Given the description of an element on the screen output the (x, y) to click on. 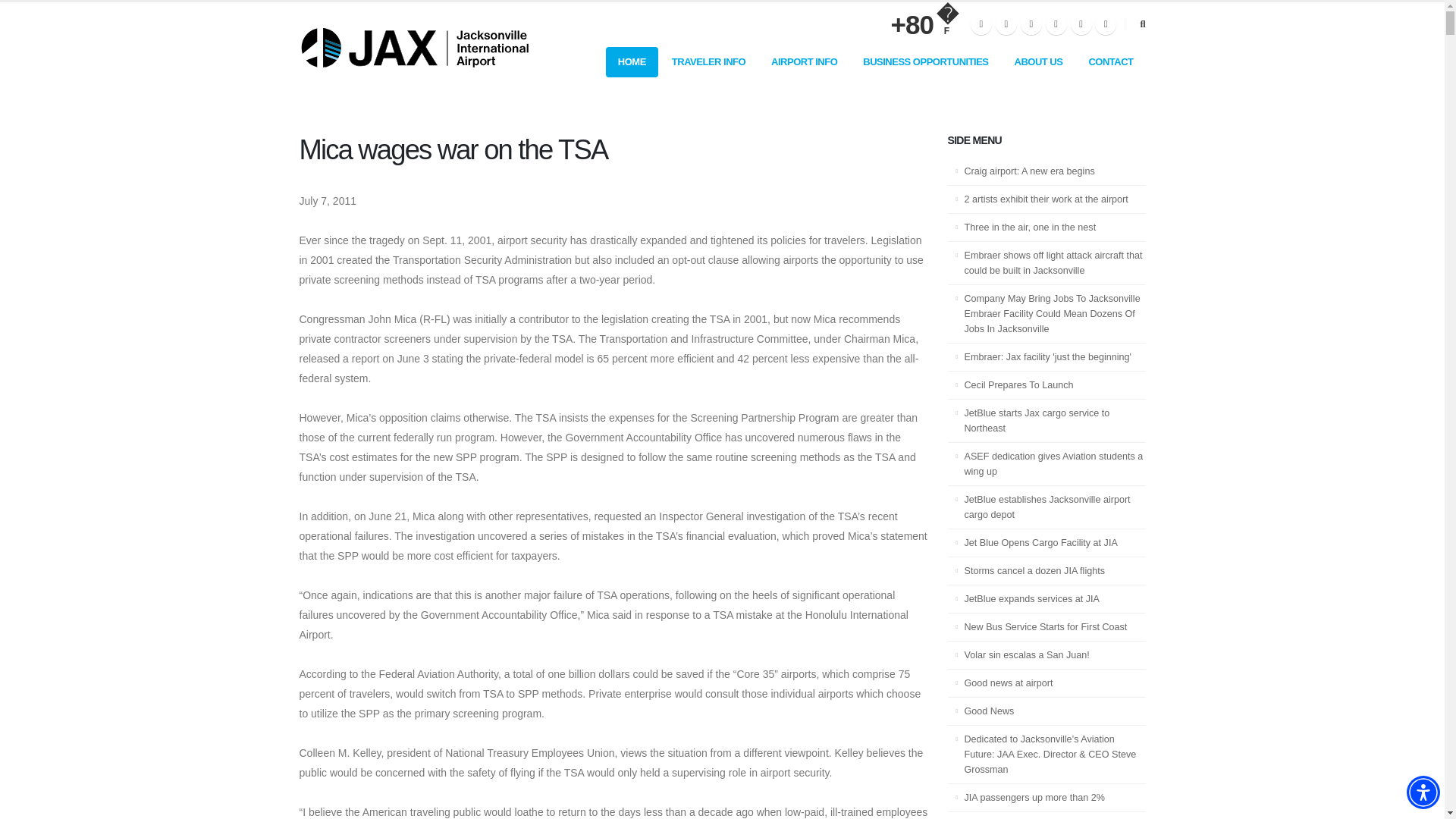
Embraer: Jax facility  (1046, 357)
2 artists exhibit their work at the airport (1046, 199)
HOME (631, 61)
JetBlue starts Jax cargo service to Northeast (1046, 421)
Youtube (1056, 24)
Flickr (1031, 24)
JetBlue establishes Jacksonville airport cargo depot (1046, 507)
Craig airport: A new era begins (1046, 171)
Twitter (1005, 24)
Accessibility Menu (1422, 792)
Instagram (1081, 24)
ABOUT US (1039, 61)
Facebook (981, 24)
